Given the description of an element on the screen output the (x, y) to click on. 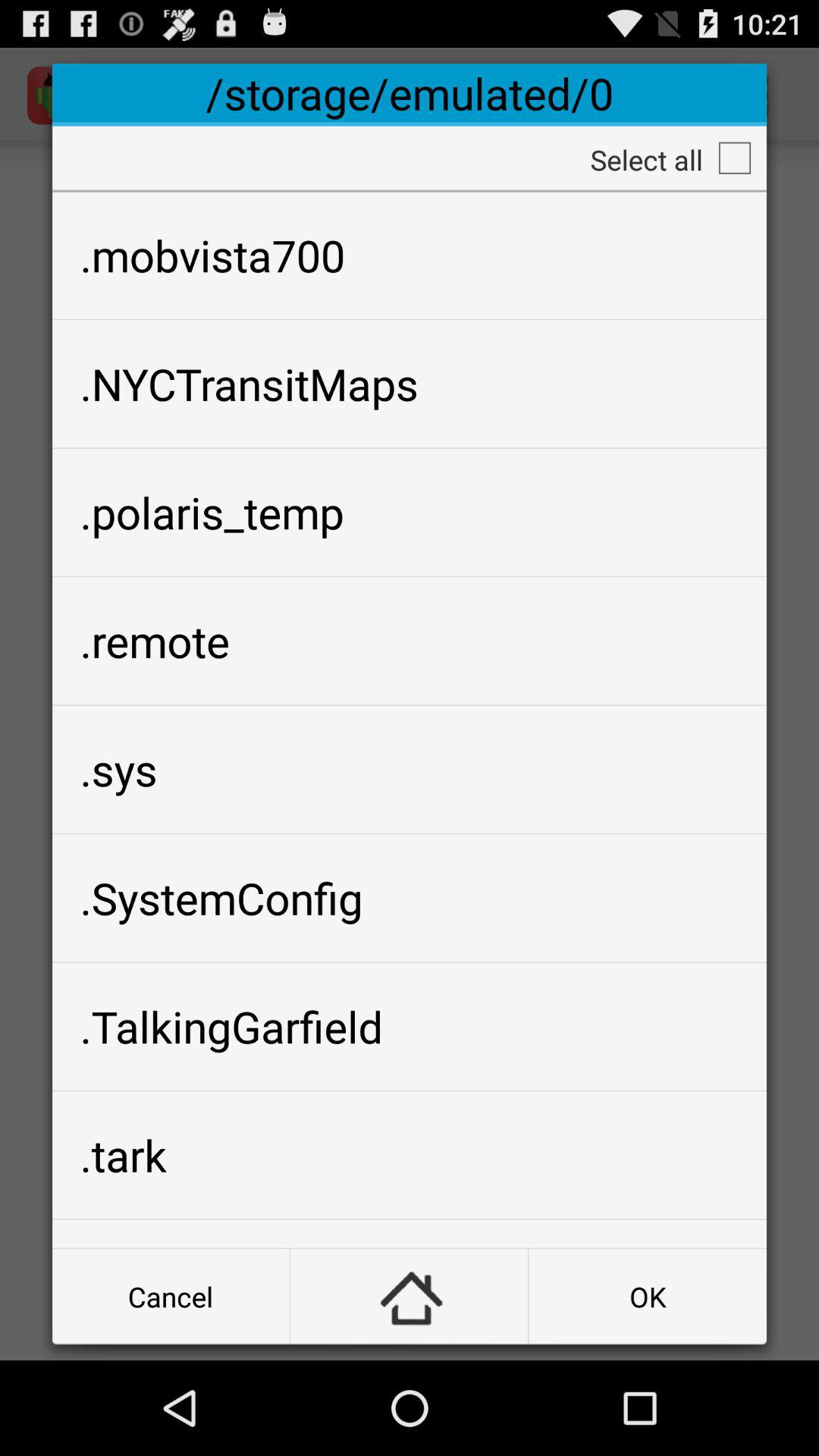
turn on .nyctransitmaps (409, 383)
